Given the description of an element on the screen output the (x, y) to click on. 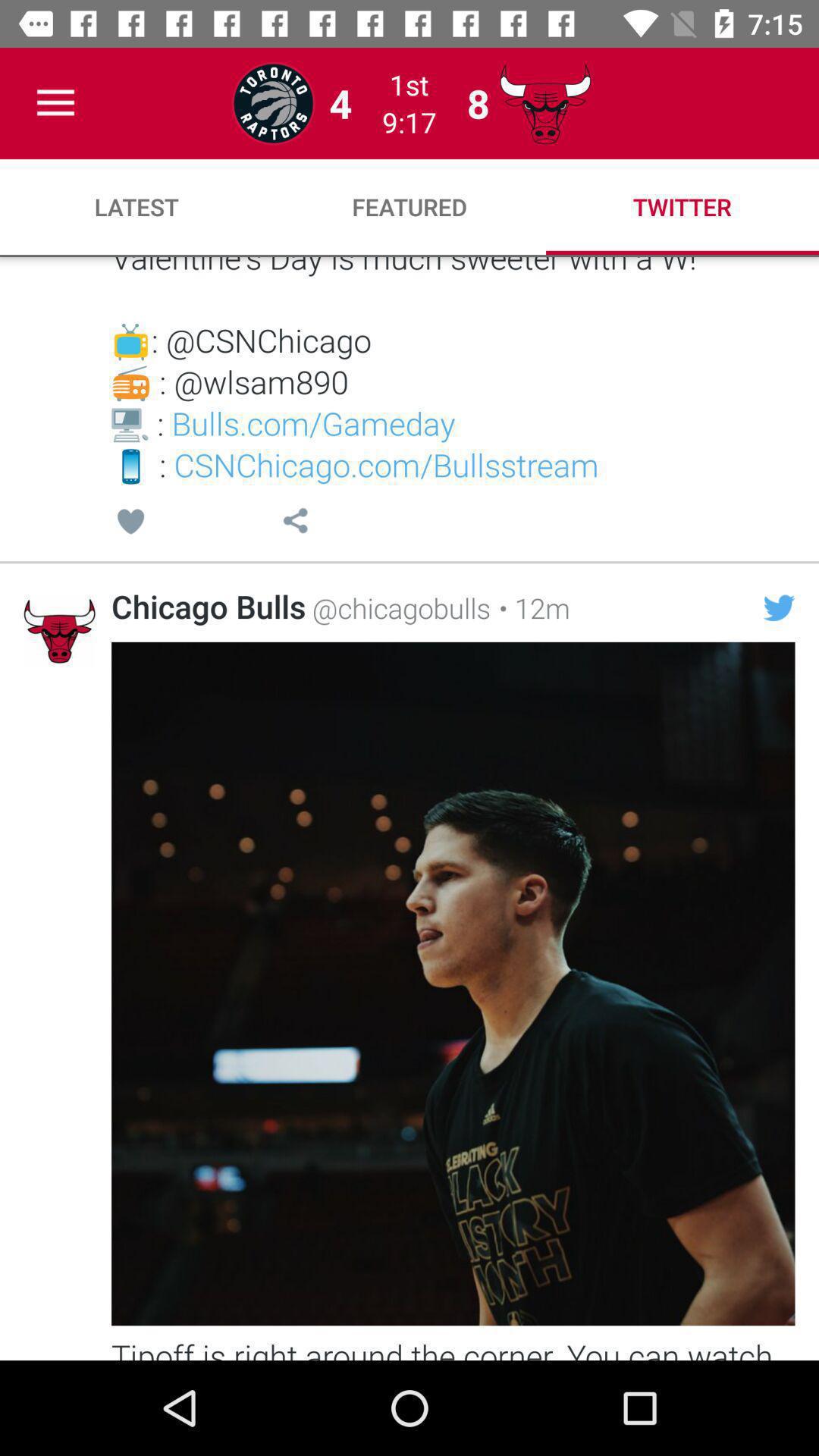
click item to the right of chicago bulls icon (397, 607)
